Given the description of an element on the screen output the (x, y) to click on. 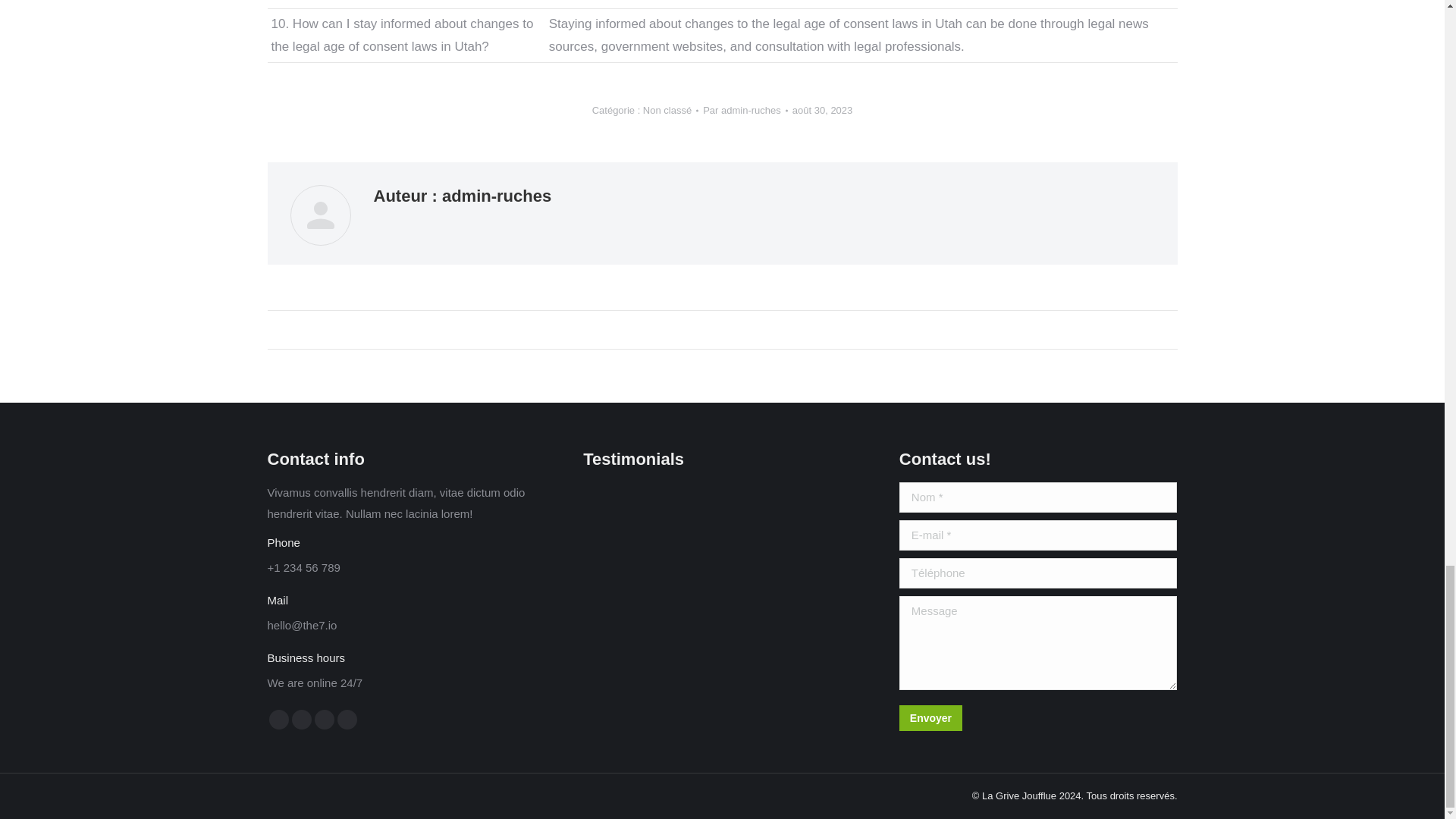
Envoyer (930, 718)
Voir tous les articles par admin-ruches (745, 110)
3:57   (822, 110)
Par admin-ruches (745, 110)
envoyer (1002, 719)
envoyer (1002, 719)
